Given the description of an element on the screen output the (x, y) to click on. 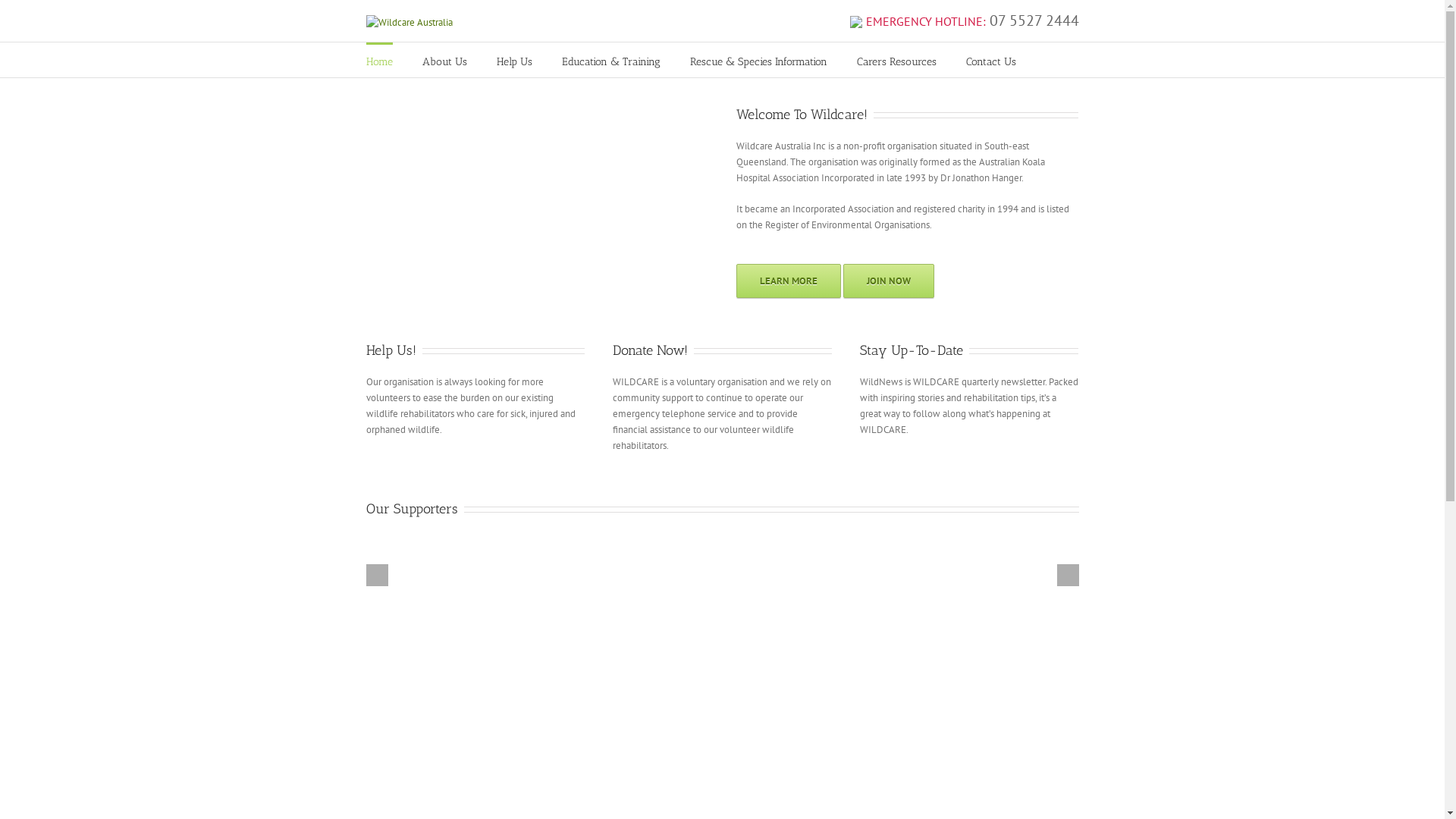
Carers Resources Element type: text (896, 60)
Help Us Element type: text (513, 60)
About Us Element type: text (443, 60)
Rescue & Species Information Element type: text (758, 60)
Education & Training Element type: text (610, 60)
LEARN MORE Element type: text (788, 280)
JOIN NOW Element type: text (888, 280)
Contact Us Element type: text (991, 60)
Home Element type: text (378, 59)
